Given the description of an element on the screen output the (x, y) to click on. 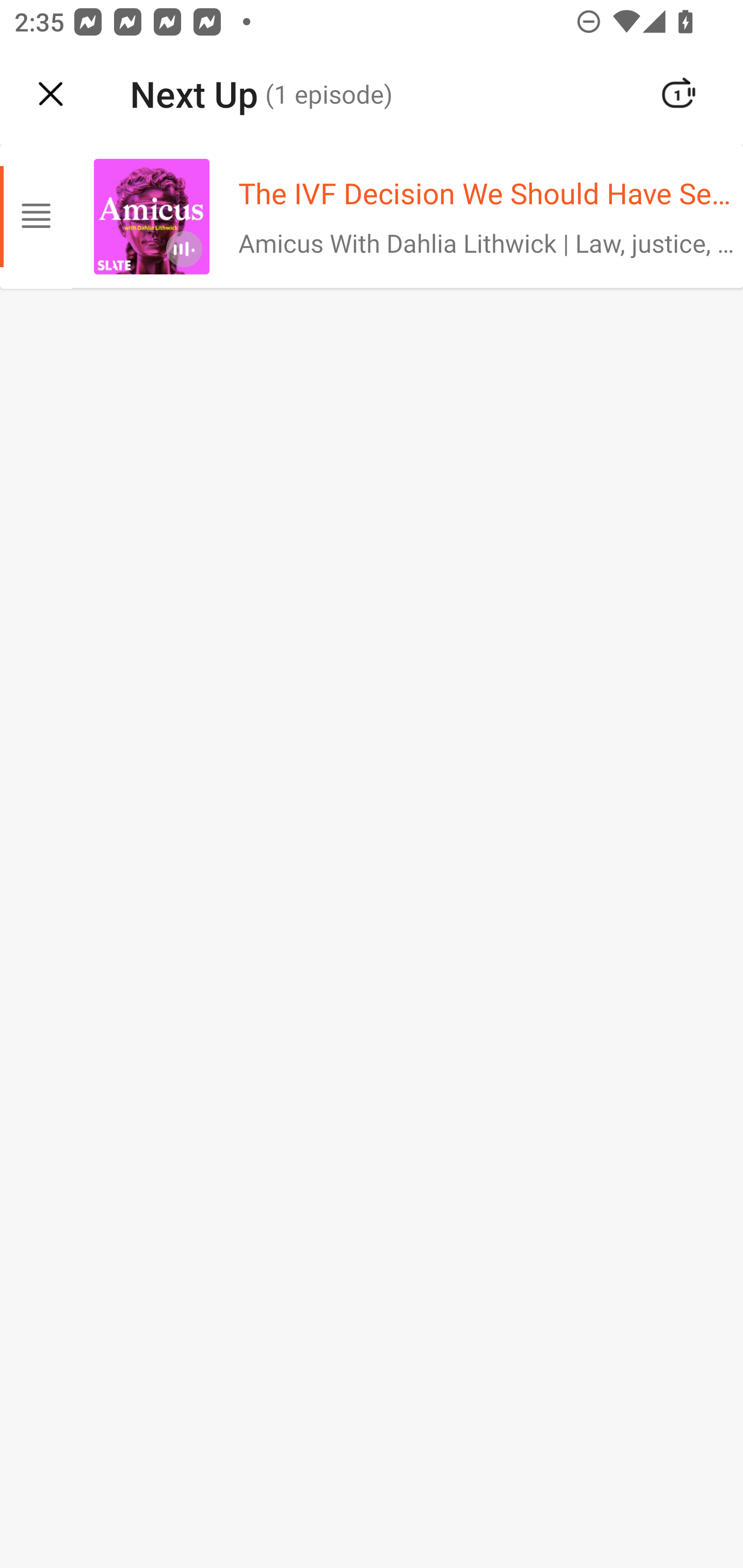
Navigate up (50, 93)
